Given the description of an element on the screen output the (x, y) to click on. 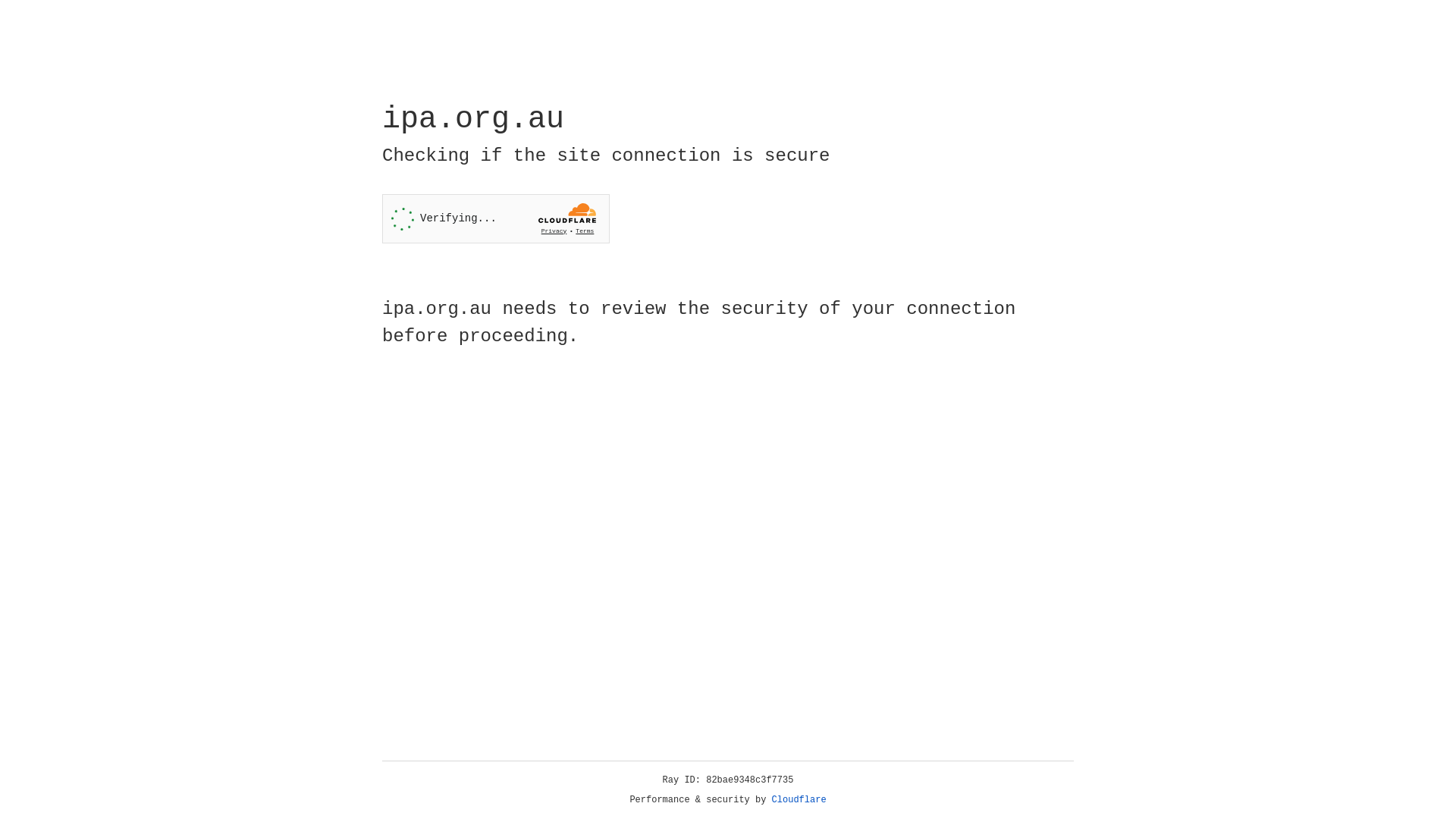
Widget containing a Cloudflare security challenge Element type: hover (495, 218)
Cloudflare Element type: text (798, 799)
